Given the description of an element on the screen output the (x, y) to click on. 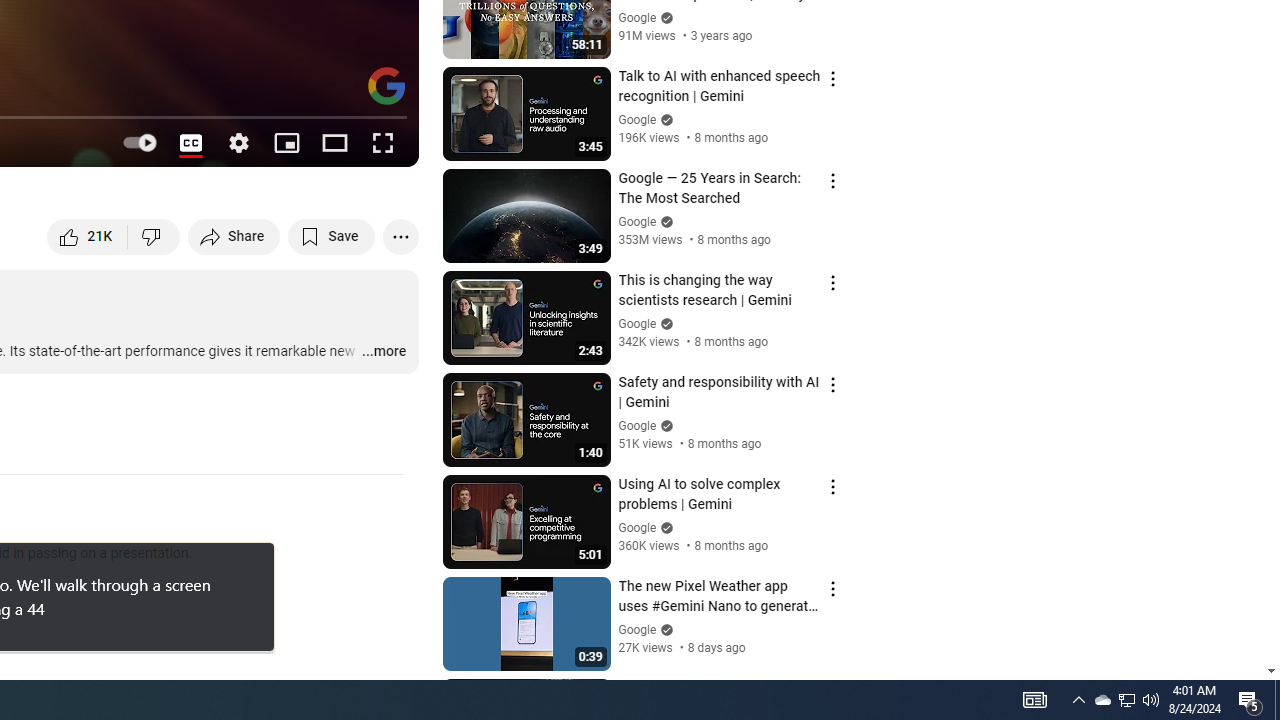
...more (382, 352)
Dislike this video (154, 236)
Channel watermark (386, 85)
Autoplay is on (141, 142)
like this video along with 21,118 other people (88, 236)
